Given the description of an element on the screen output the (x, y) to click on. 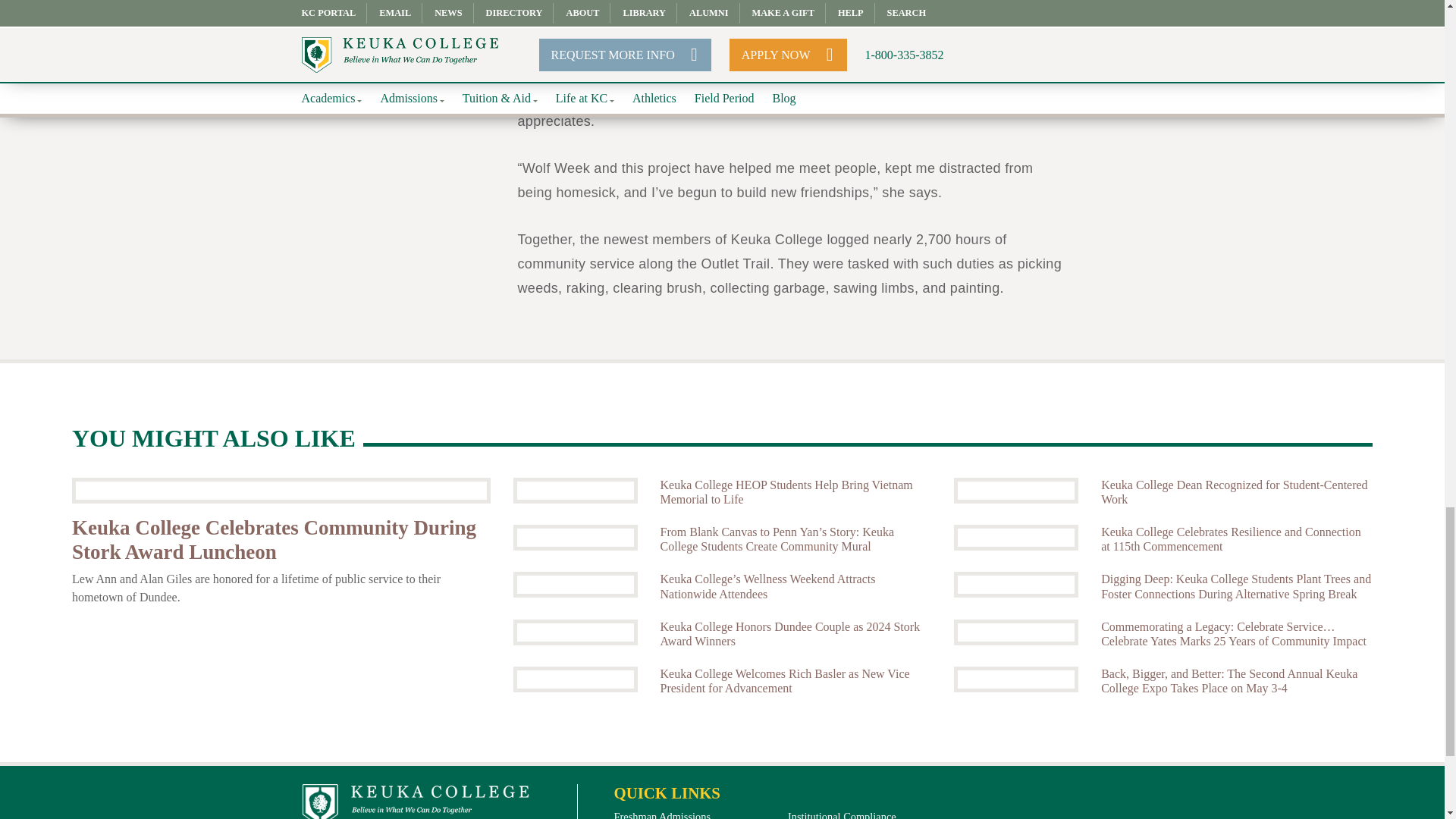
Keuka College Dean Recognized for Student-Centered Work (1015, 490)
Keuka College Dean Recognized for Student-Centered Work (1236, 491)
